Given the description of an element on the screen output the (x, y) to click on. 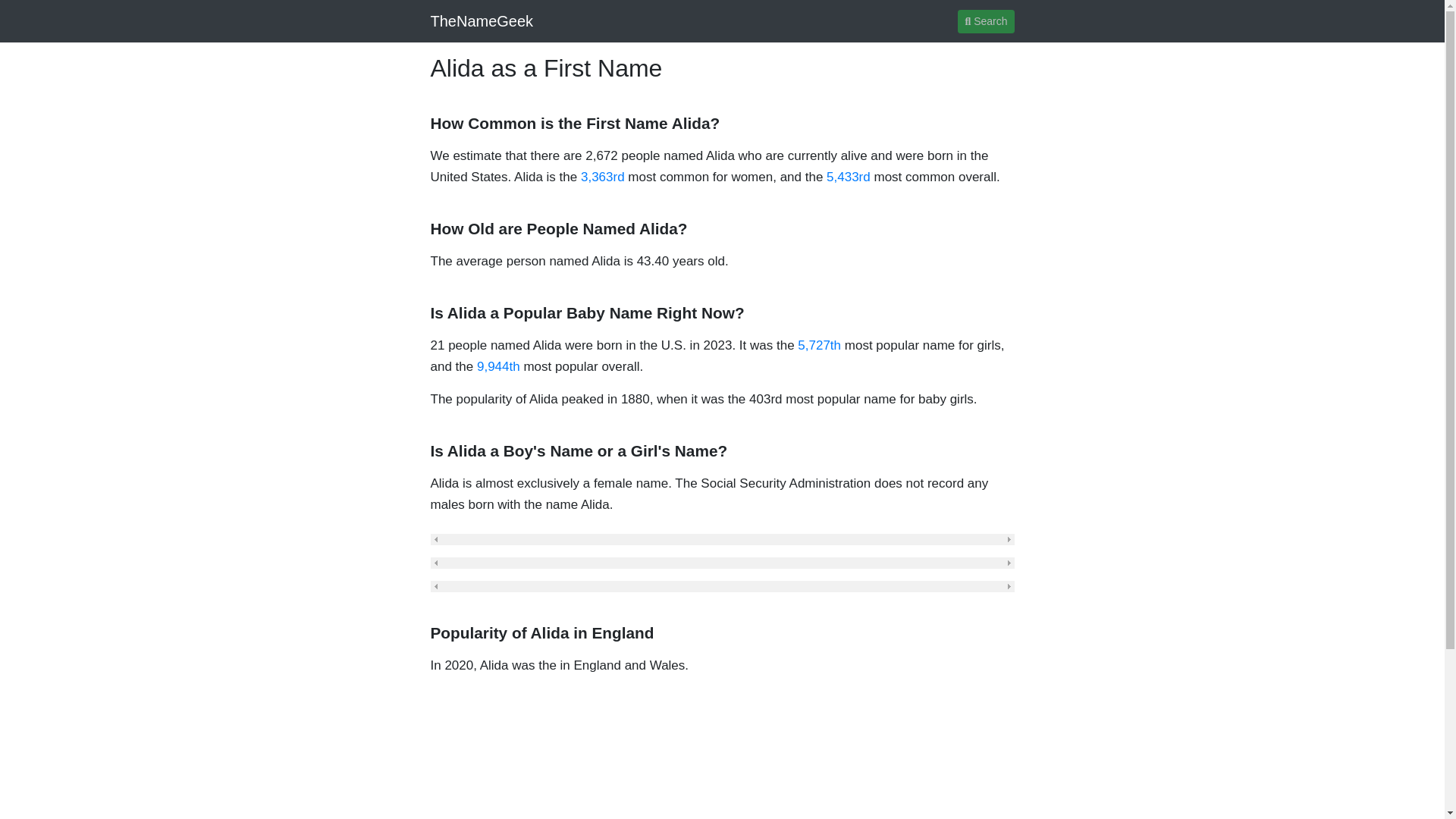
5,433rd (848, 176)
5,727th (819, 345)
9,944th (498, 366)
TheNameGeek (482, 20)
3,363rd (602, 176)
Search (985, 20)
